Given the description of an element on the screen output the (x, y) to click on. 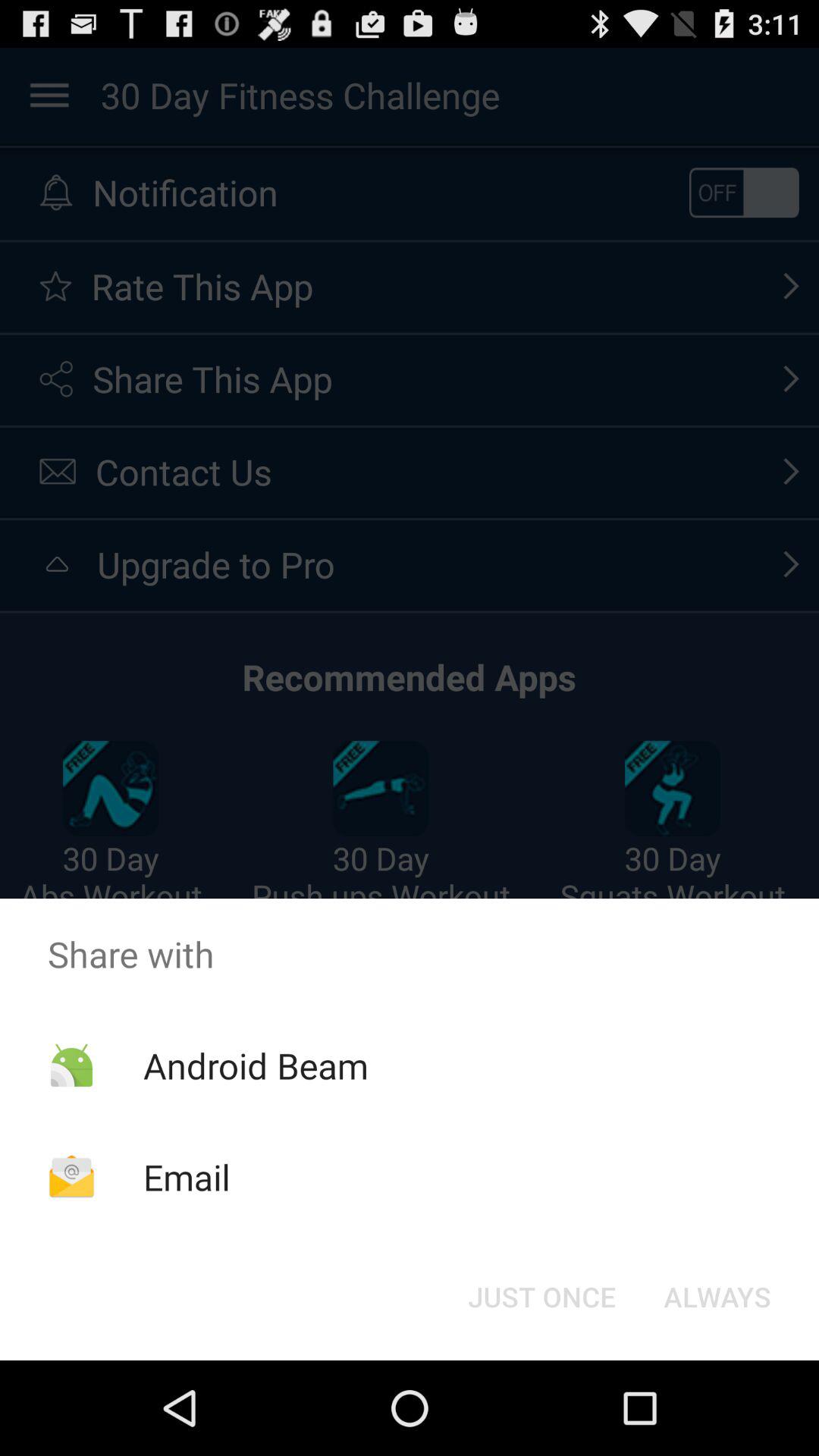
turn off the button to the right of just once item (717, 1296)
